Given the description of an element on the screen output the (x, y) to click on. 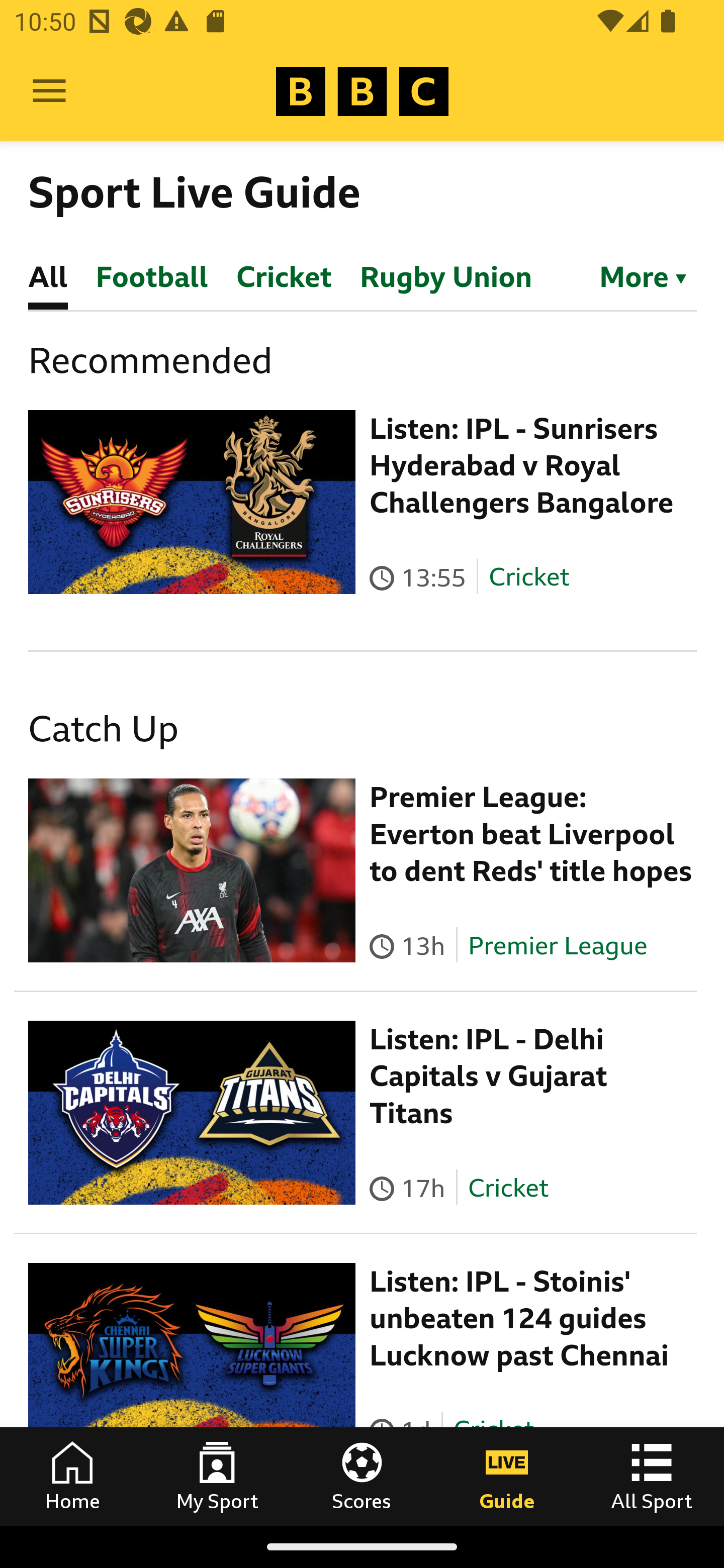
Open Menu (49, 91)
Cricket (528, 576)
Premier League (557, 945)
Listen: IPL - Delhi Capitals v Gujarat Titans (488, 1076)
Cricket (507, 1186)
Home (72, 1475)
My Sport (216, 1475)
Scores (361, 1475)
All Sport (651, 1475)
